Given the description of an element on the screen output the (x, y) to click on. 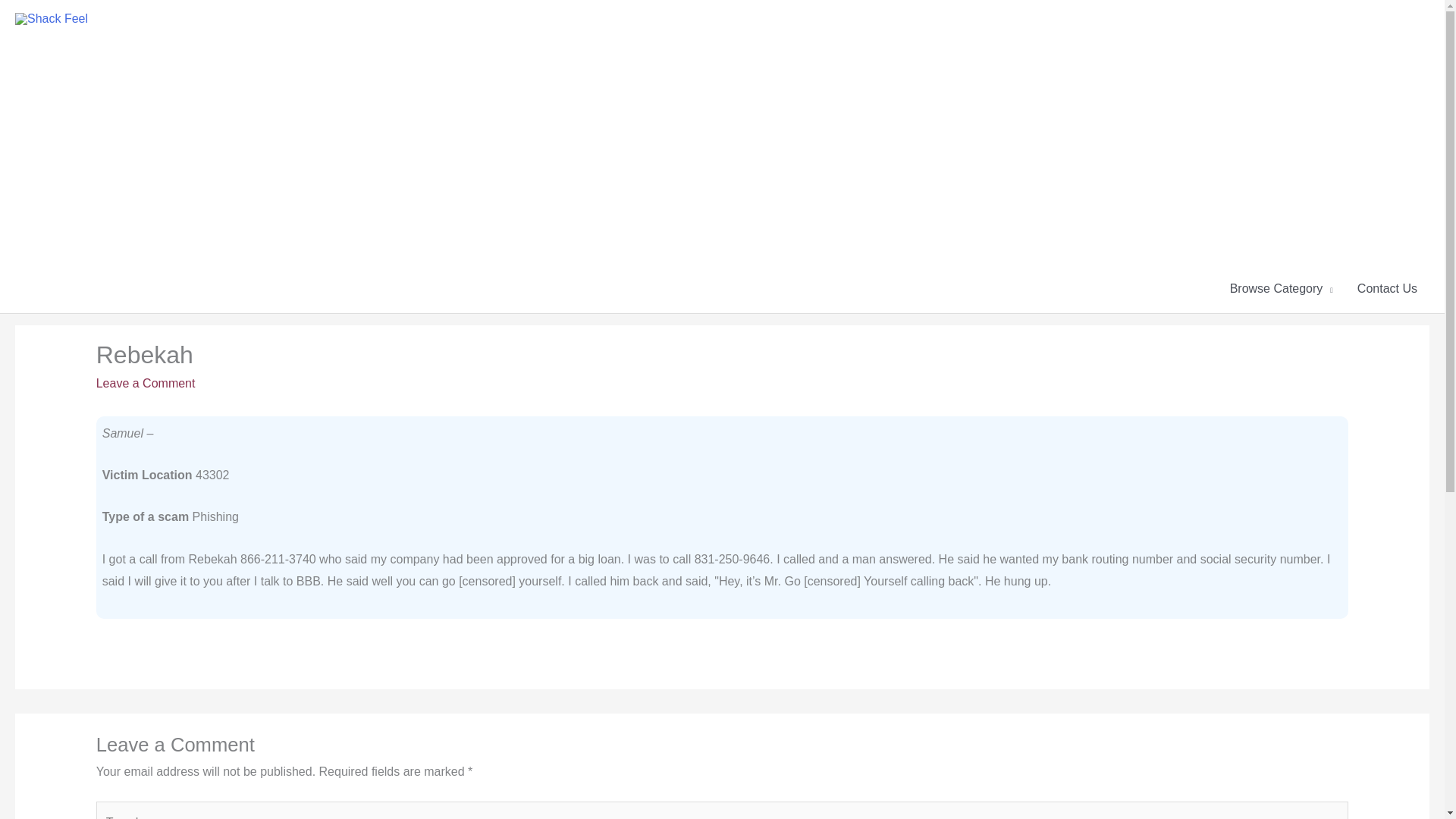
Browse Category (1281, 288)
Contact Us (1387, 288)
Leave a Comment (145, 382)
